Given the description of an element on the screen output the (x, y) to click on. 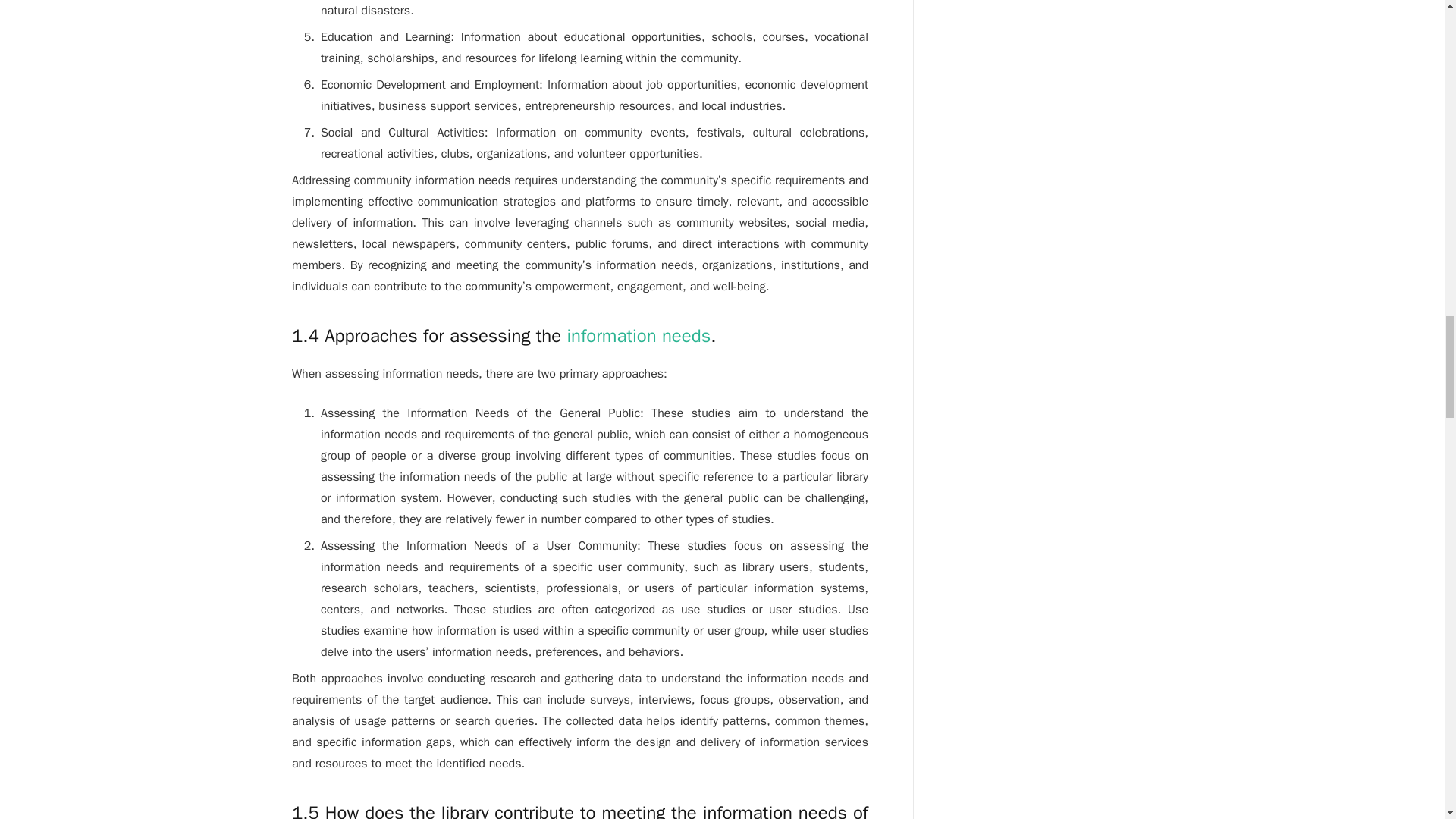
information needs (638, 335)
